Given the description of an element on the screen output the (x, y) to click on. 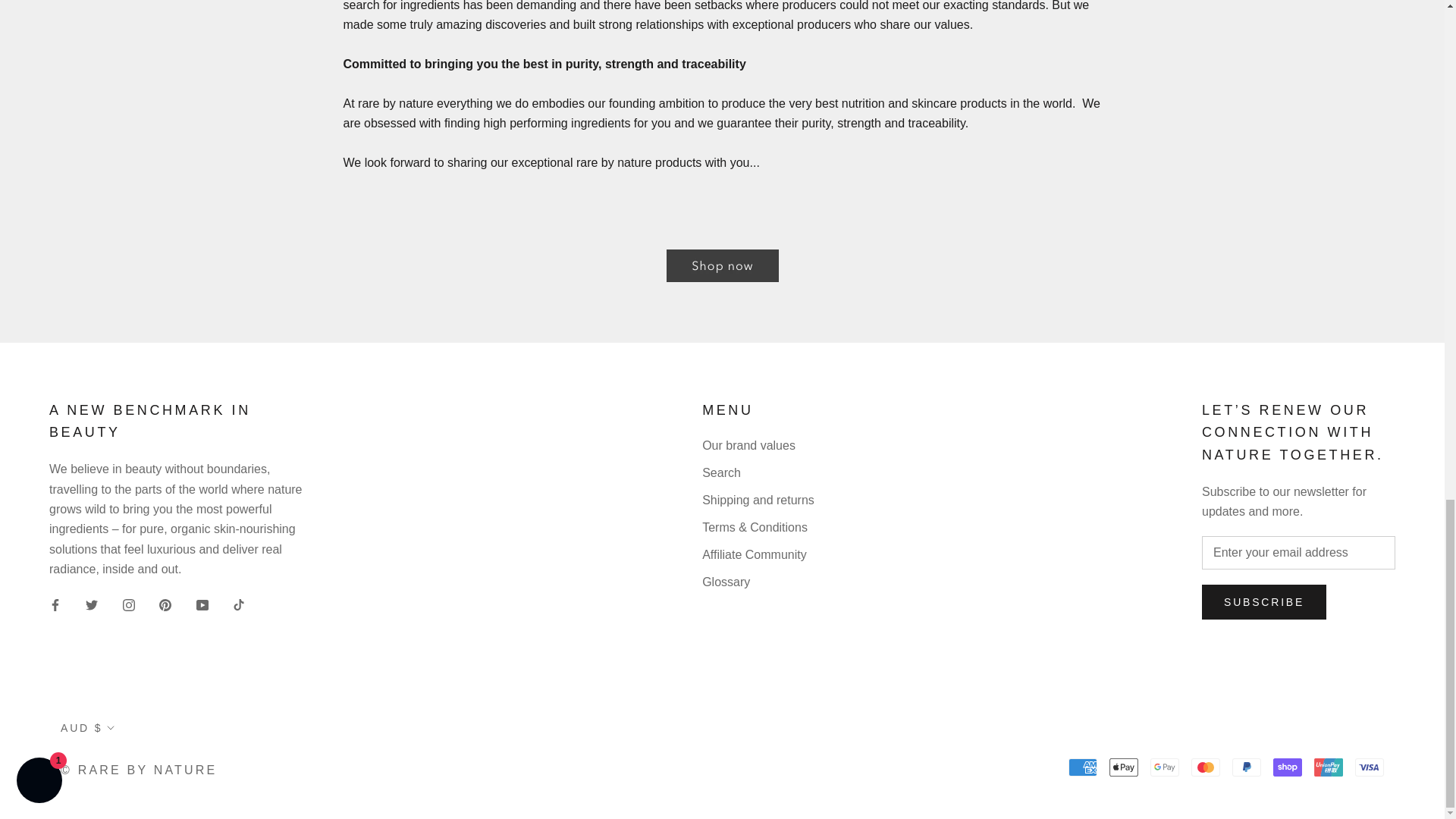
Visa (1369, 767)
American Express (1082, 767)
Mastercard (1205, 767)
Google Pay (1164, 767)
Apple Pay (1123, 767)
Shop now (721, 265)
Union Pay (1328, 767)
PayPal (1245, 767)
Shop Pay (1286, 767)
